Given the description of an element on the screen output the (x, y) to click on. 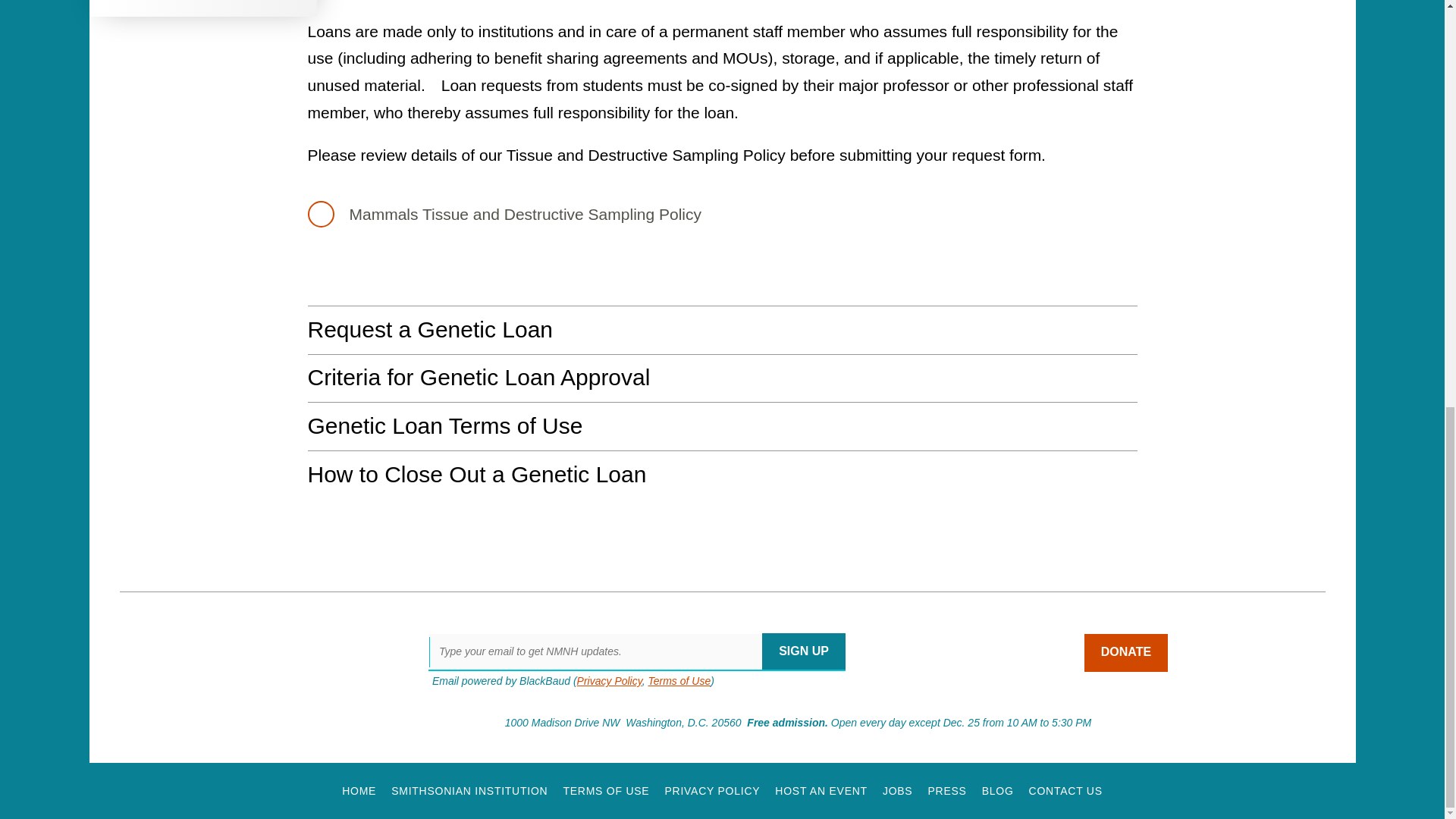
Sign Up (803, 651)
NMNH Press Office landing page (947, 790)
Mammals Tissue and Destructive Sampling Policy (514, 213)
Request a Genetic Loan (722, 328)
Smithsonian (179, 724)
Criteria for Genetic Loan Approval (722, 376)
Mammals Tissue and Destructive Sampling Policy (514, 213)
